Given the description of an element on the screen output the (x, y) to click on. 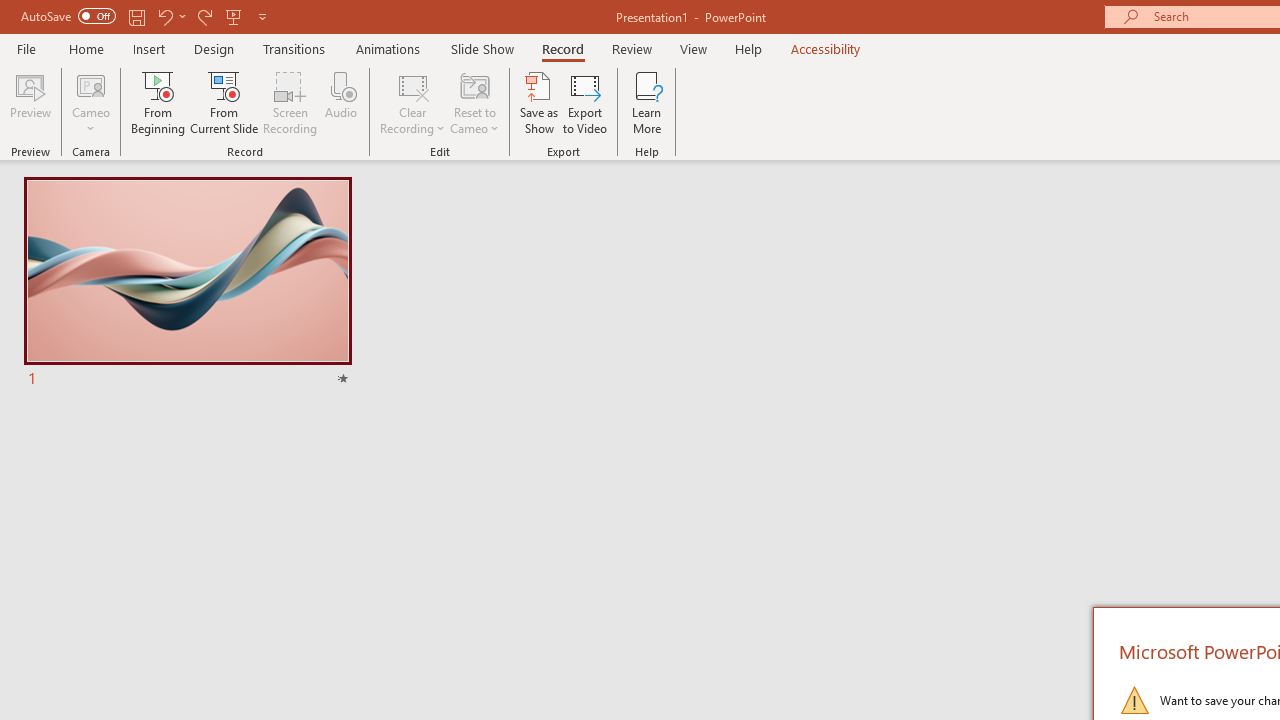
Warning Icon (1134, 699)
Reset to Cameo (474, 102)
Save as Show (539, 102)
